Given the description of an element on the screen output the (x, y) to click on. 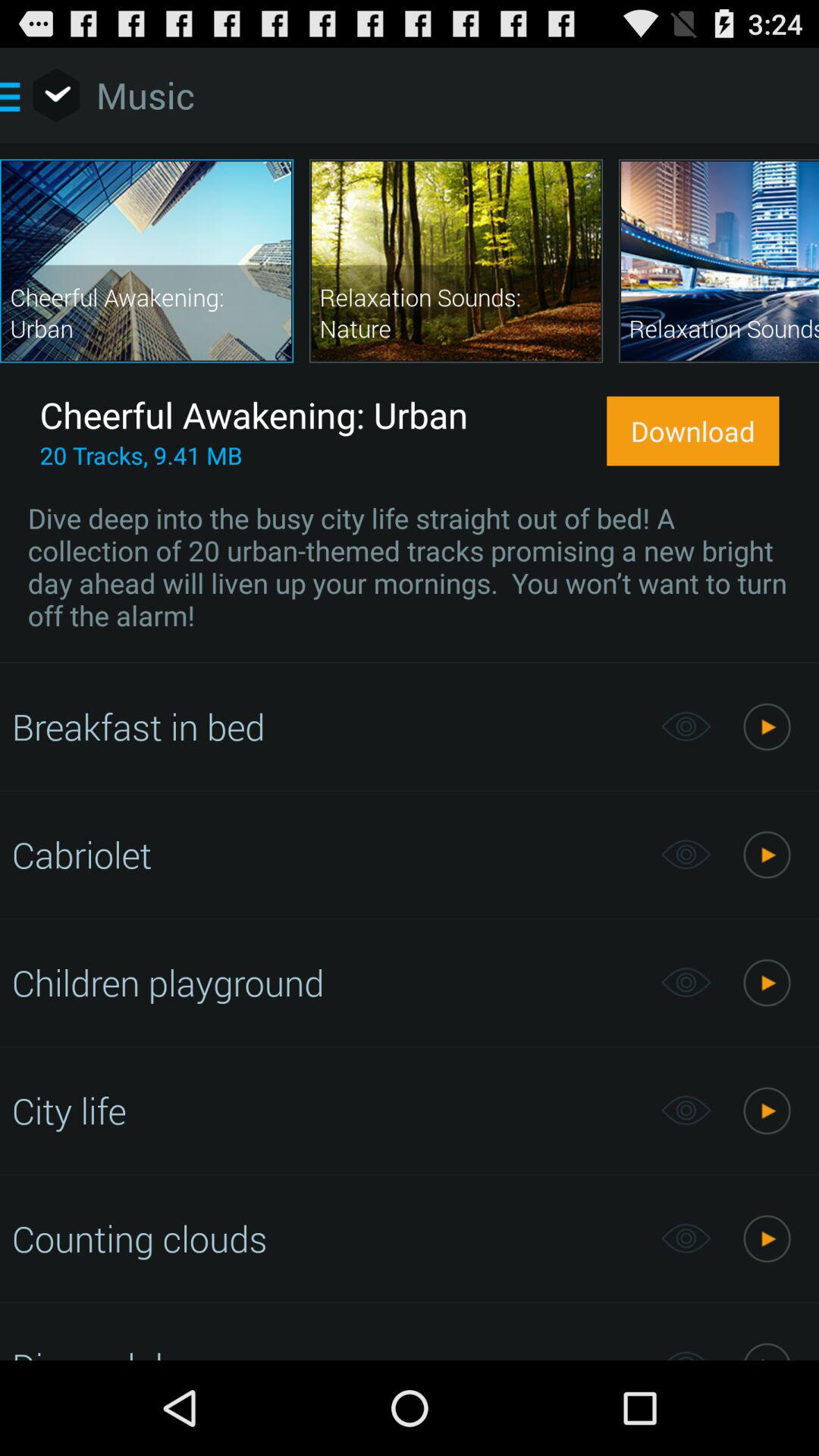
swipe to dive deep into (409, 566)
